Given the description of an element on the screen output the (x, y) to click on. 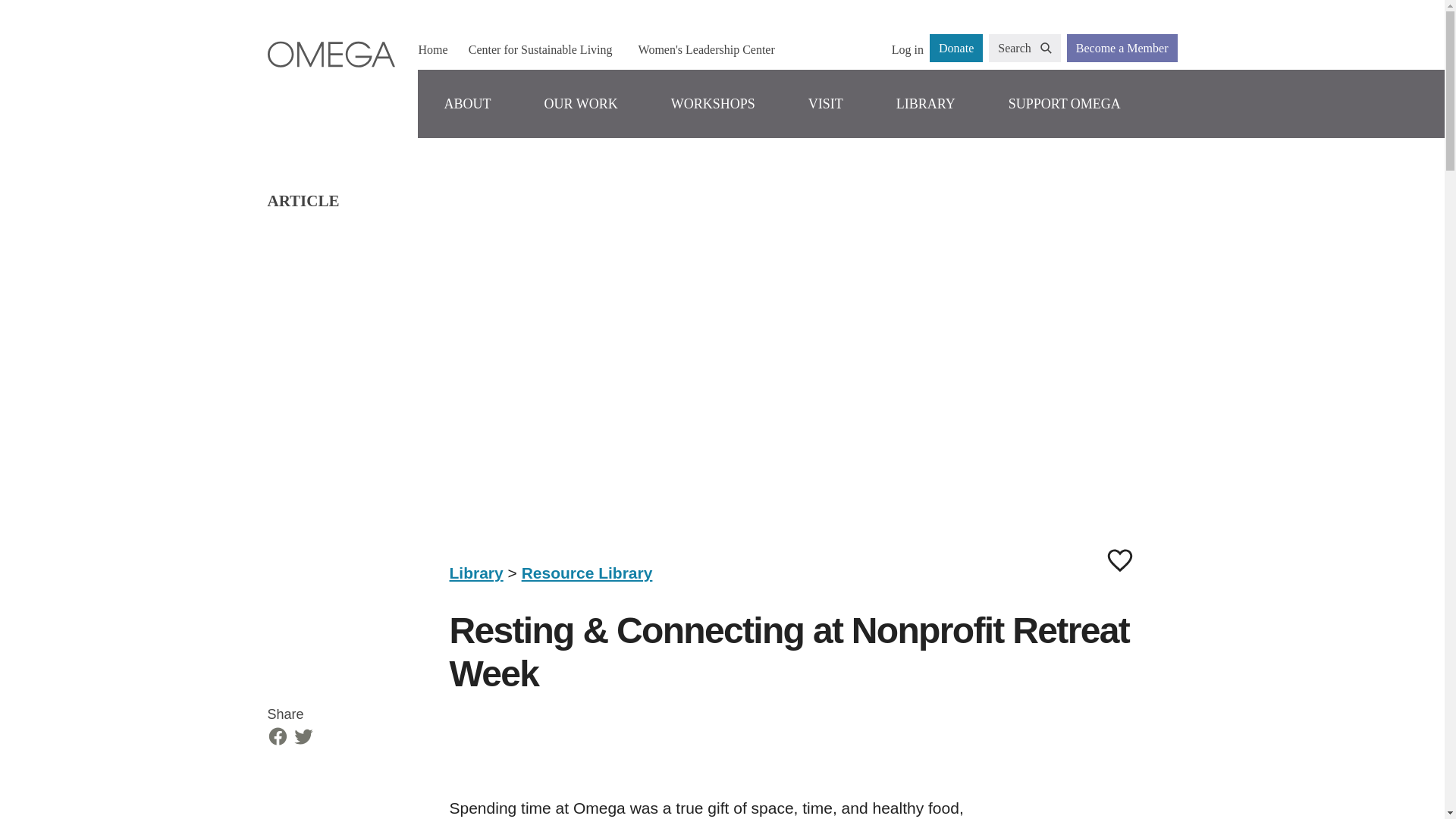
Search (1024, 48)
About (466, 103)
Become a Member (1122, 48)
Donate (956, 48)
Home (432, 49)
Log in (907, 49)
Home (432, 49)
Women's Leadership Center (705, 49)
Log in (907, 49)
